Given the description of an element on the screen output the (x, y) to click on. 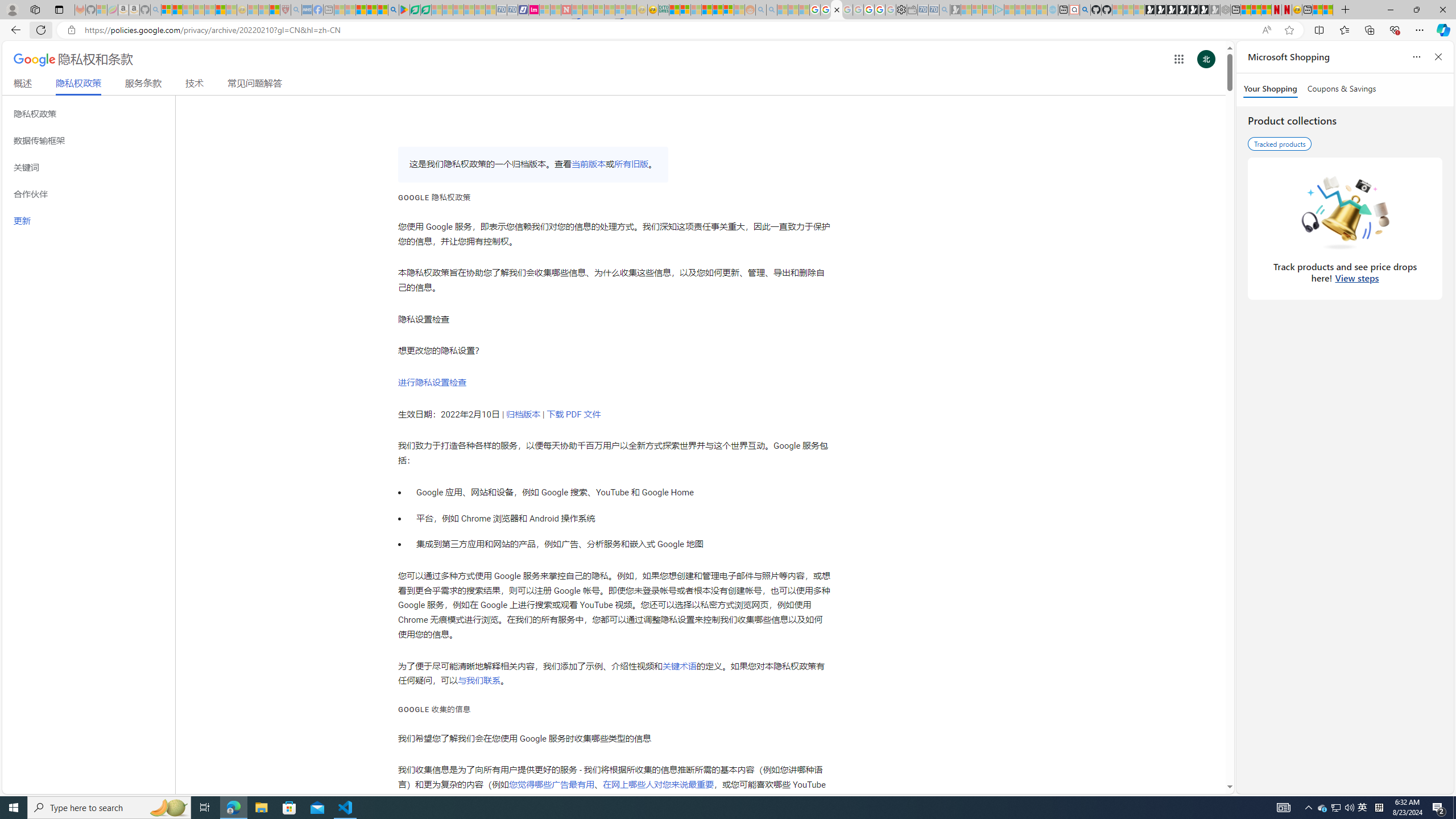
Class: gb_E (1178, 59)
Wildlife - MSN (1317, 9)
